Given the description of an element on the screen output the (x, y) to click on. 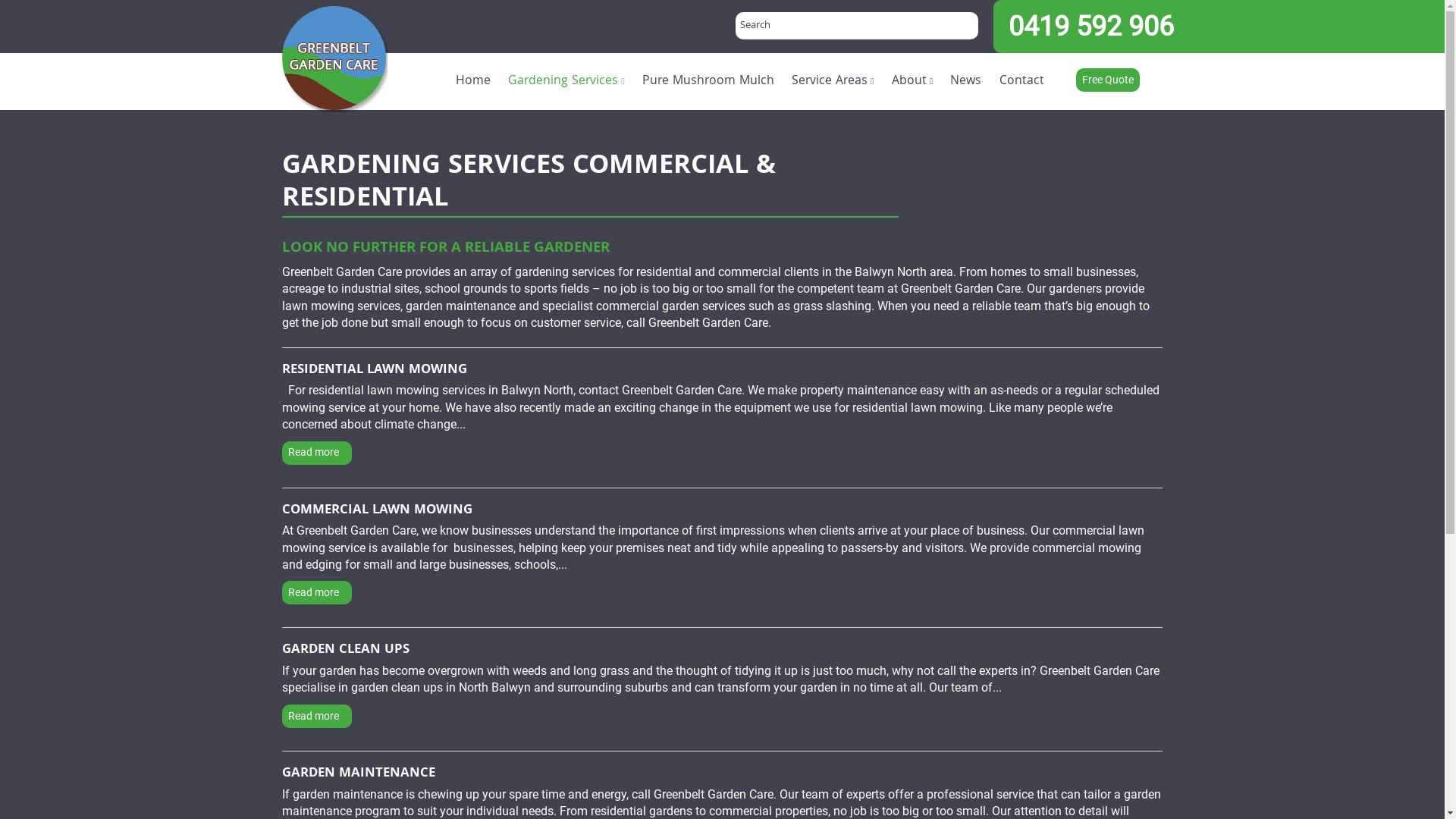
Read more Element type: text (316, 592)
Search for: Element type: hover (856, 25)
Service Areas Element type: text (833, 81)
GARDEN CLEAN UPS Element type: text (345, 650)
Home Element type: text (472, 81)
Read more Element type: text (316, 716)
Gardening Services Element type: text (566, 81)
Pure Mushroom Mulch Element type: text (707, 81)
Free Quote Element type: text (1107, 79)
News Element type: text (965, 81)
GARDEN MAINTENANCE Element type: text (358, 773)
About Element type: text (911, 81)
RESIDENTIAL LAWN MOWING Element type: text (374, 370)
Contact Element type: text (1021, 81)
COMMERCIAL LAWN MOWING Element type: text (377, 510)
Read more Element type: text (316, 452)
